Given the description of an element on the screen output the (x, y) to click on. 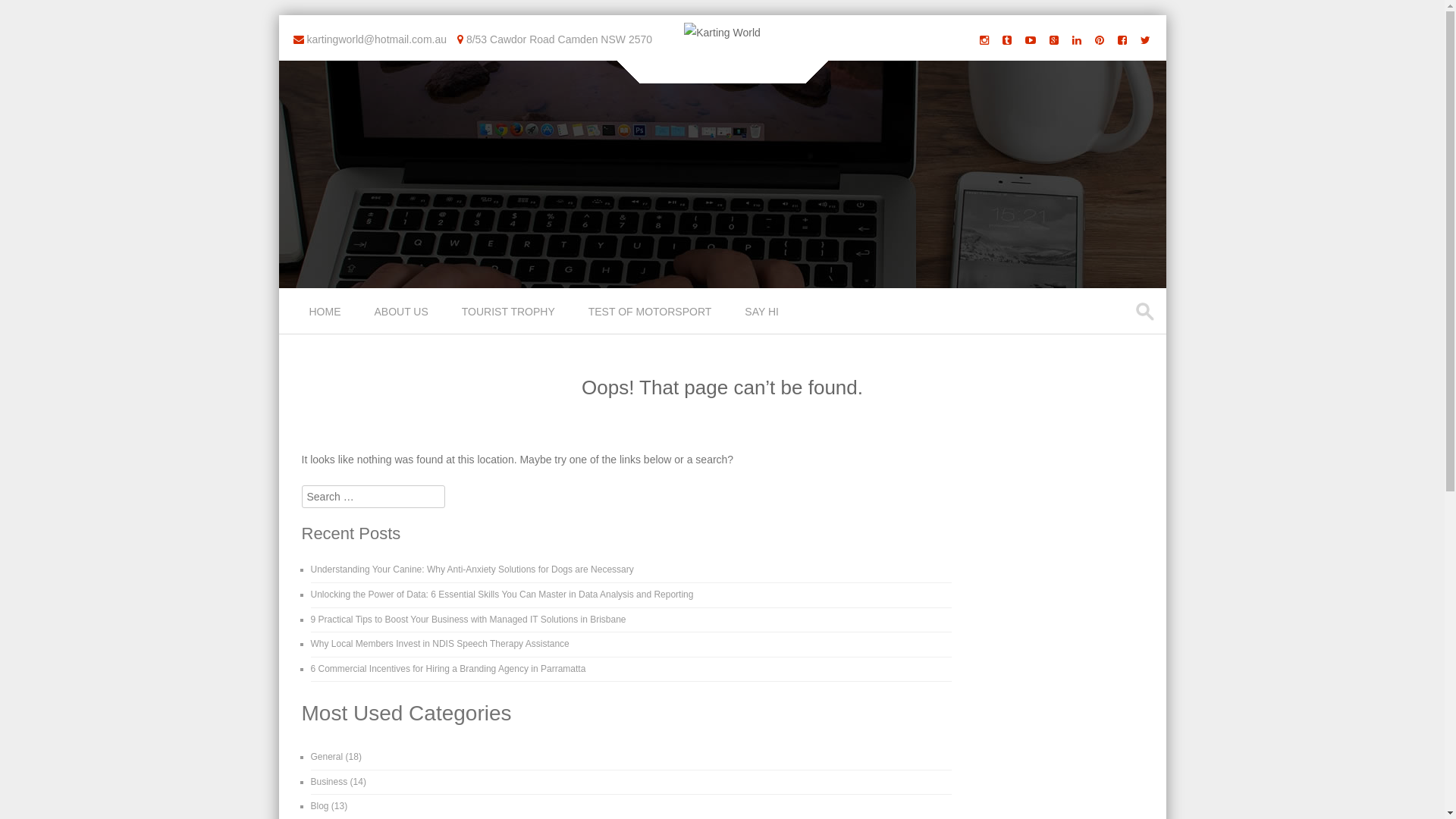
Youtube Element type: hover (1030, 39)
search Element type: hover (1146, 311)
Skip to content Element type: text (314, 297)
Tumblr Element type: hover (1006, 39)
ABOUT US Element type: text (402, 310)
TEST OF MOTORSPORT Element type: text (651, 310)
Instagram Element type: hover (984, 39)
Pinterest Element type: hover (1099, 39)
General Element type: text (326, 756)
HOME Element type: text (326, 310)
Karting World Element type: hover (722, 32)
TOURIST TROPHY Element type: text (509, 310)
Google+ Element type: hover (1053, 39)
SAY HI Element type: text (763, 310)
Blog Element type: text (319, 805)
Menu Element type: text (305, 320)
Business Element type: text (329, 781)
Facebook Element type: hover (1122, 39)
Twitter Element type: hover (1144, 39)
LinkedIn Element type: hover (1076, 39)
Why Local Members Invest in NDIS Speech Therapy Assistance Element type: text (439, 643)
Search Element type: text (26, 14)
